Given the description of an element on the screen output the (x, y) to click on. 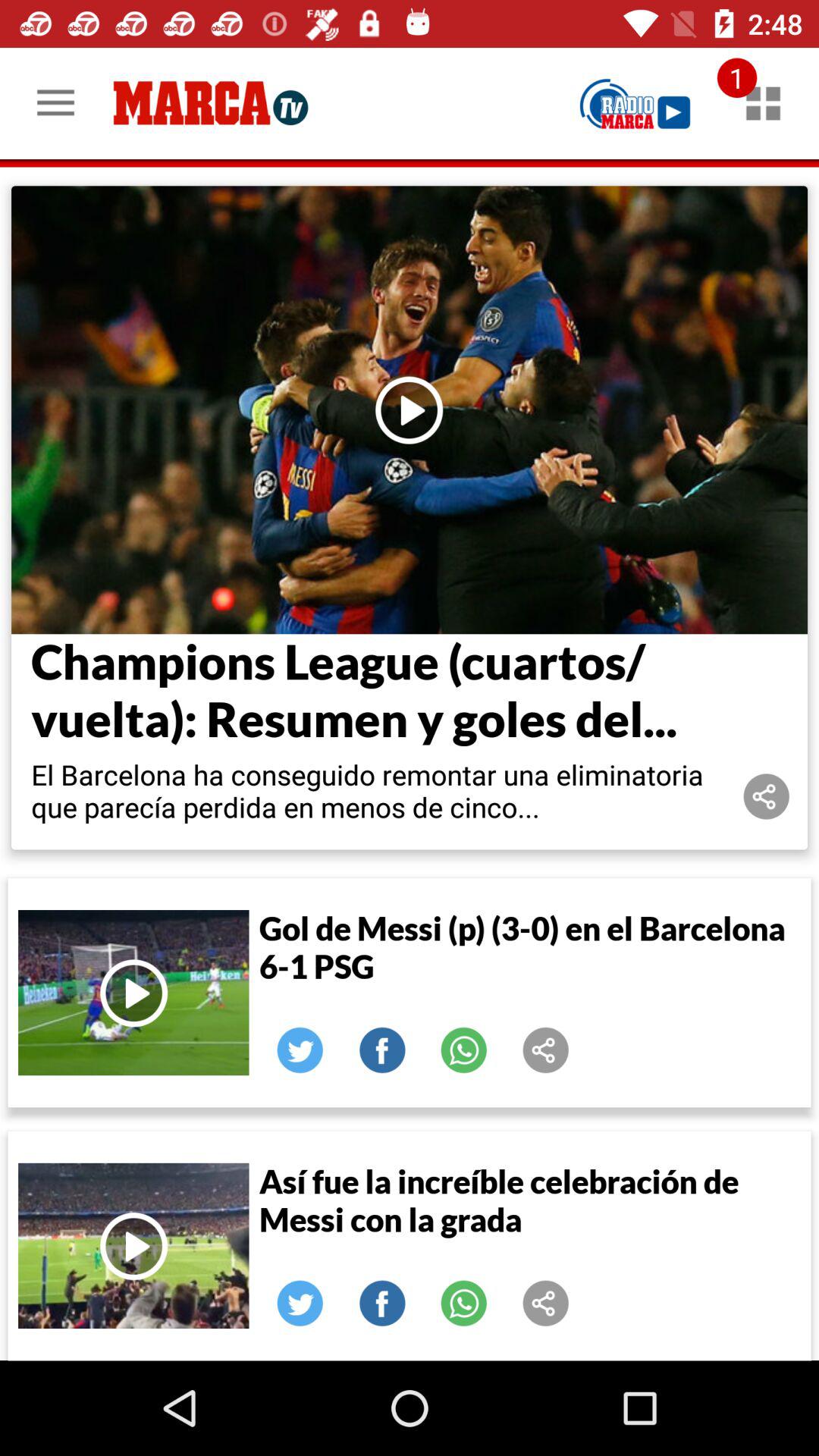
share the article (300, 1303)
